Given the description of an element on the screen output the (x, y) to click on. 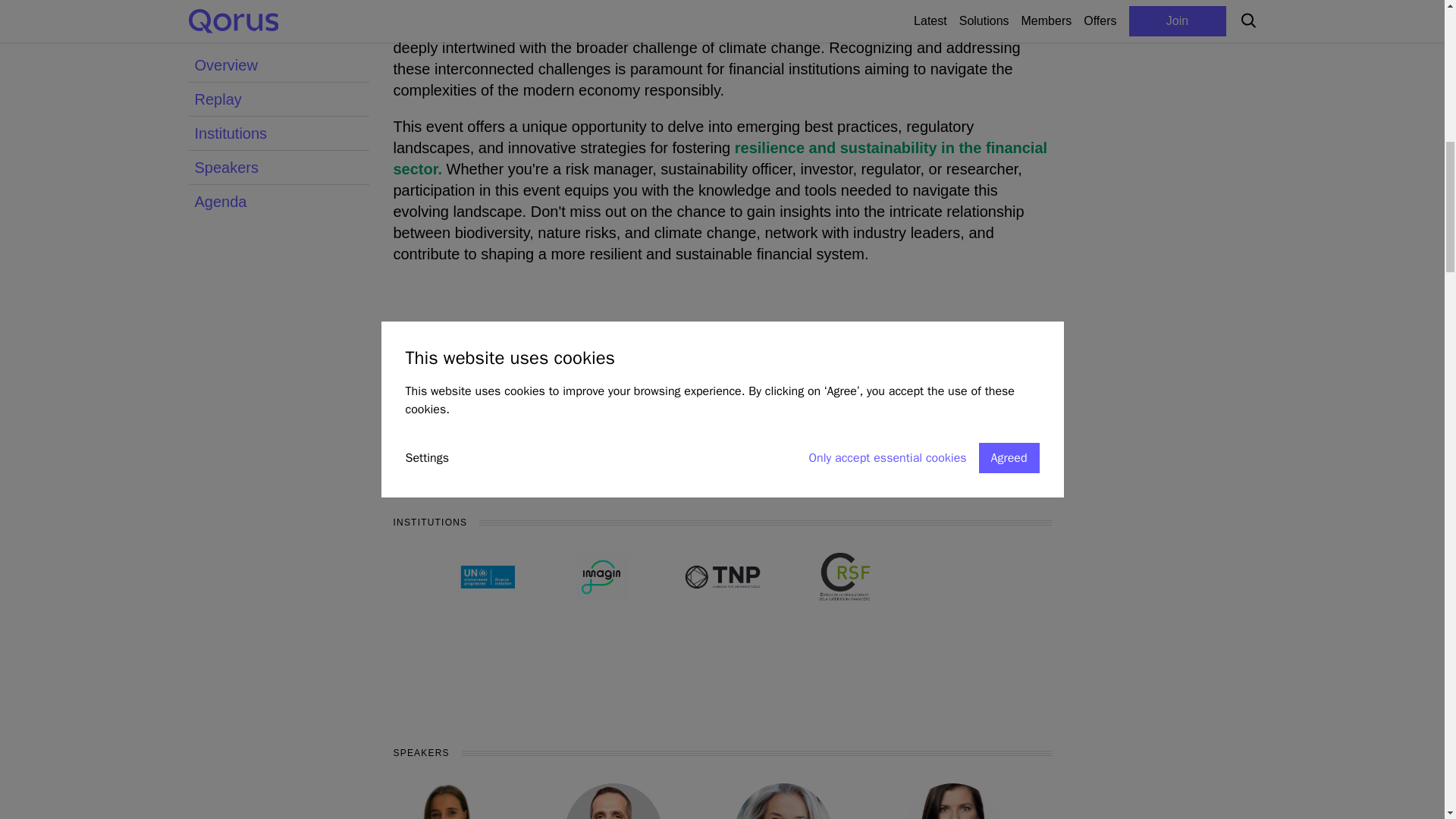
log in (454, 417)
Speakers (277, 32)
Agenda (277, 65)
here (907, 417)
Institutions (277, 7)
